Given the description of an element on the screen output the (x, y) to click on. 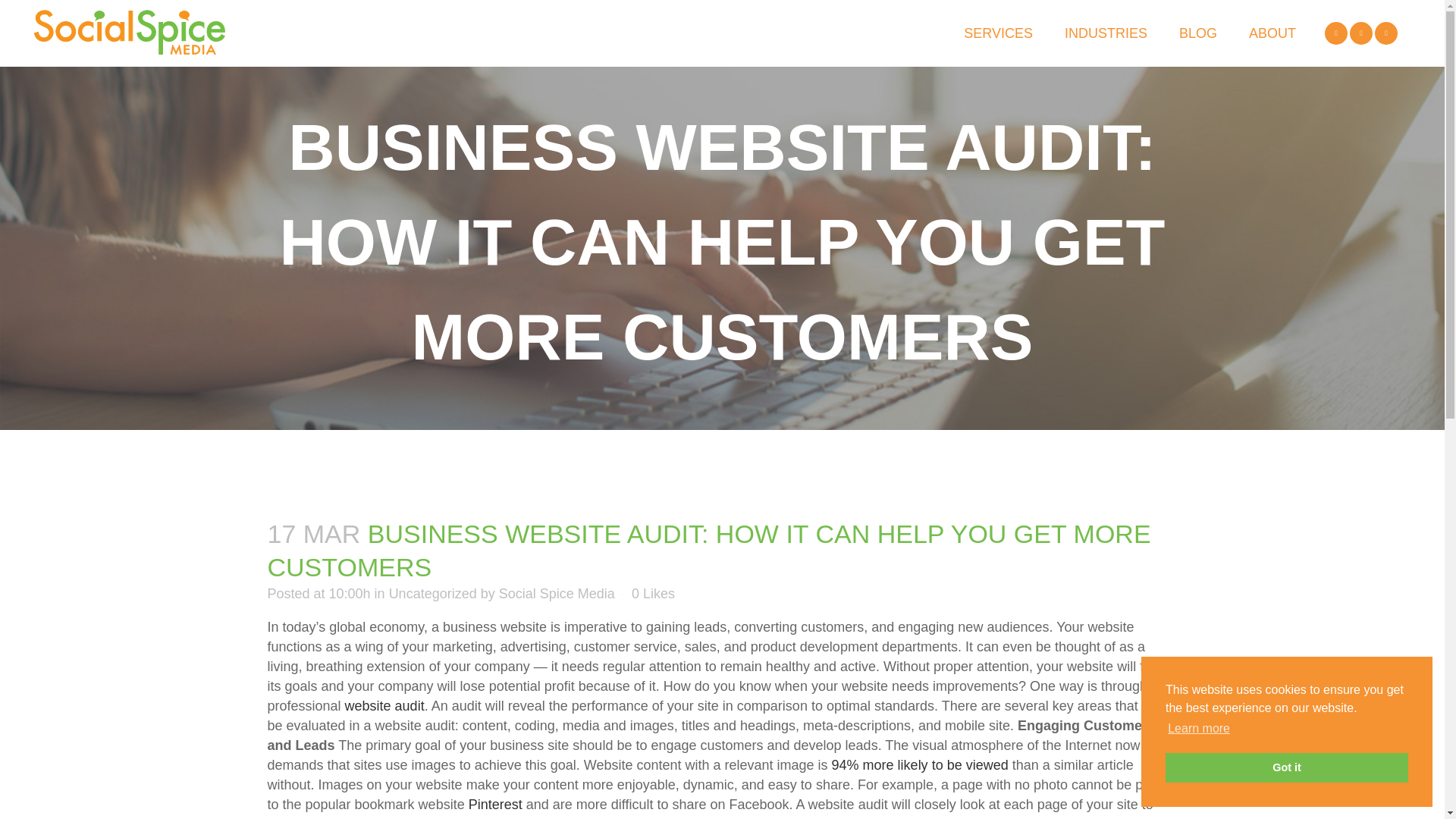
INDUSTRIES (1105, 33)
BLOG (1198, 33)
ABOUT (1272, 33)
Like this (653, 593)
SERVICES (997, 33)
